Given the description of an element on the screen output the (x, y) to click on. 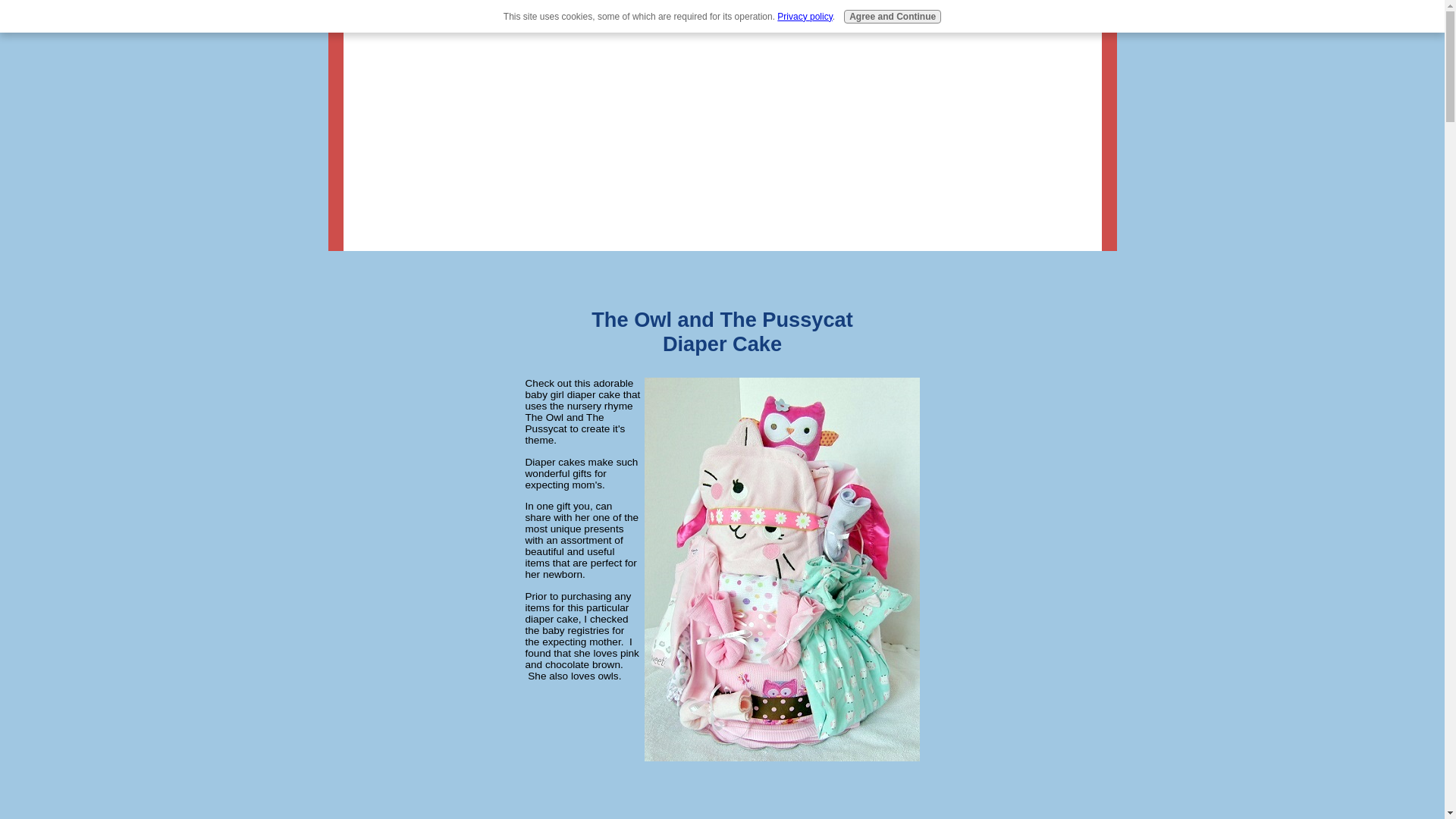
Advertisement (721, 791)
Privacy policy (804, 16)
Agree and Continue (892, 16)
